Given the description of an element on the screen output the (x, y) to click on. 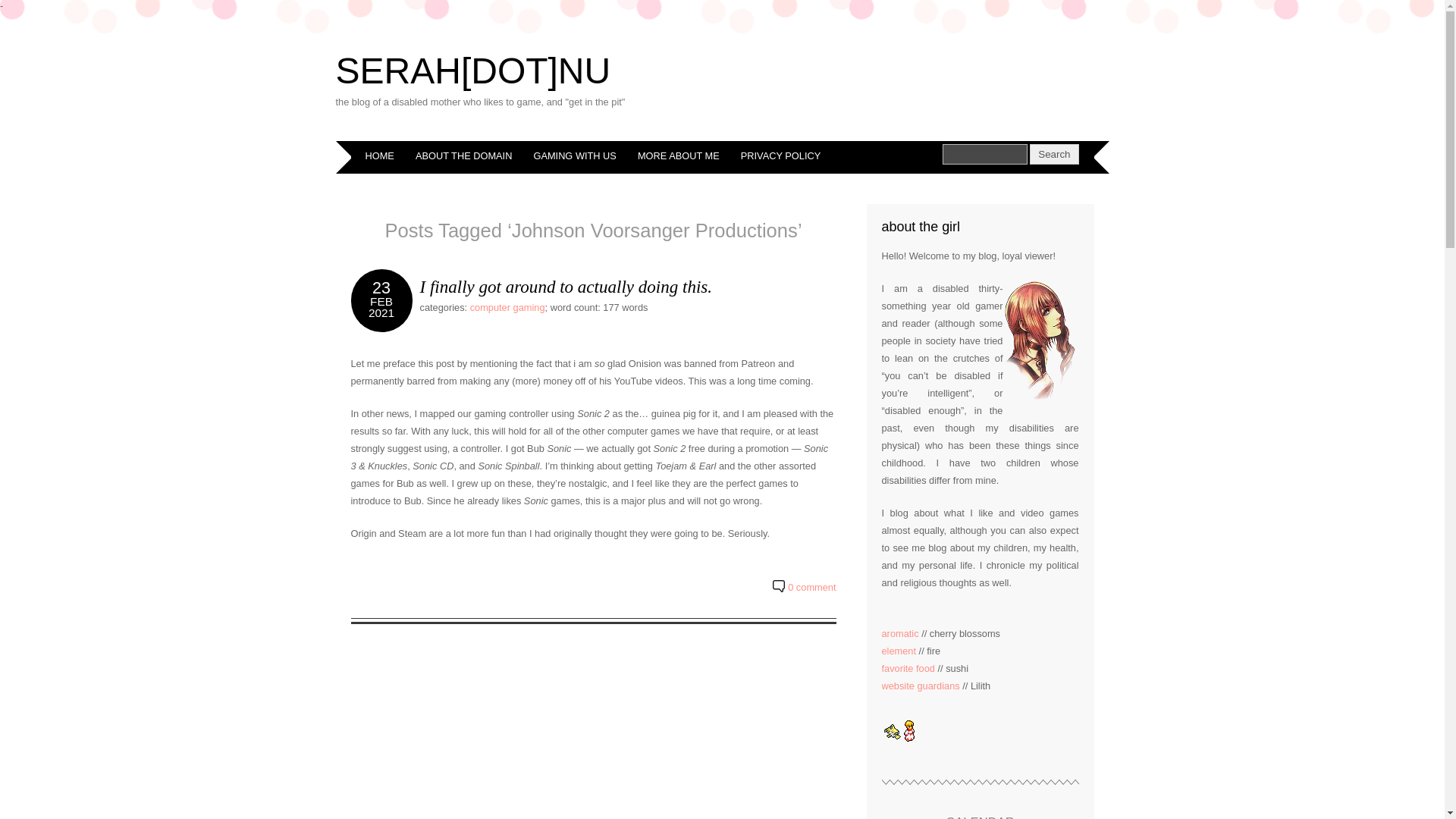
element (897, 650)
GAMING WITH US (574, 155)
23 (381, 288)
computer gaming (507, 307)
Search (984, 154)
Search (1053, 154)
Search (1053, 154)
HOME (379, 155)
PRIVACY POLICY (780, 155)
I finally got around to actually doing this. (566, 286)
